Given the description of an element on the screen output the (x, y) to click on. 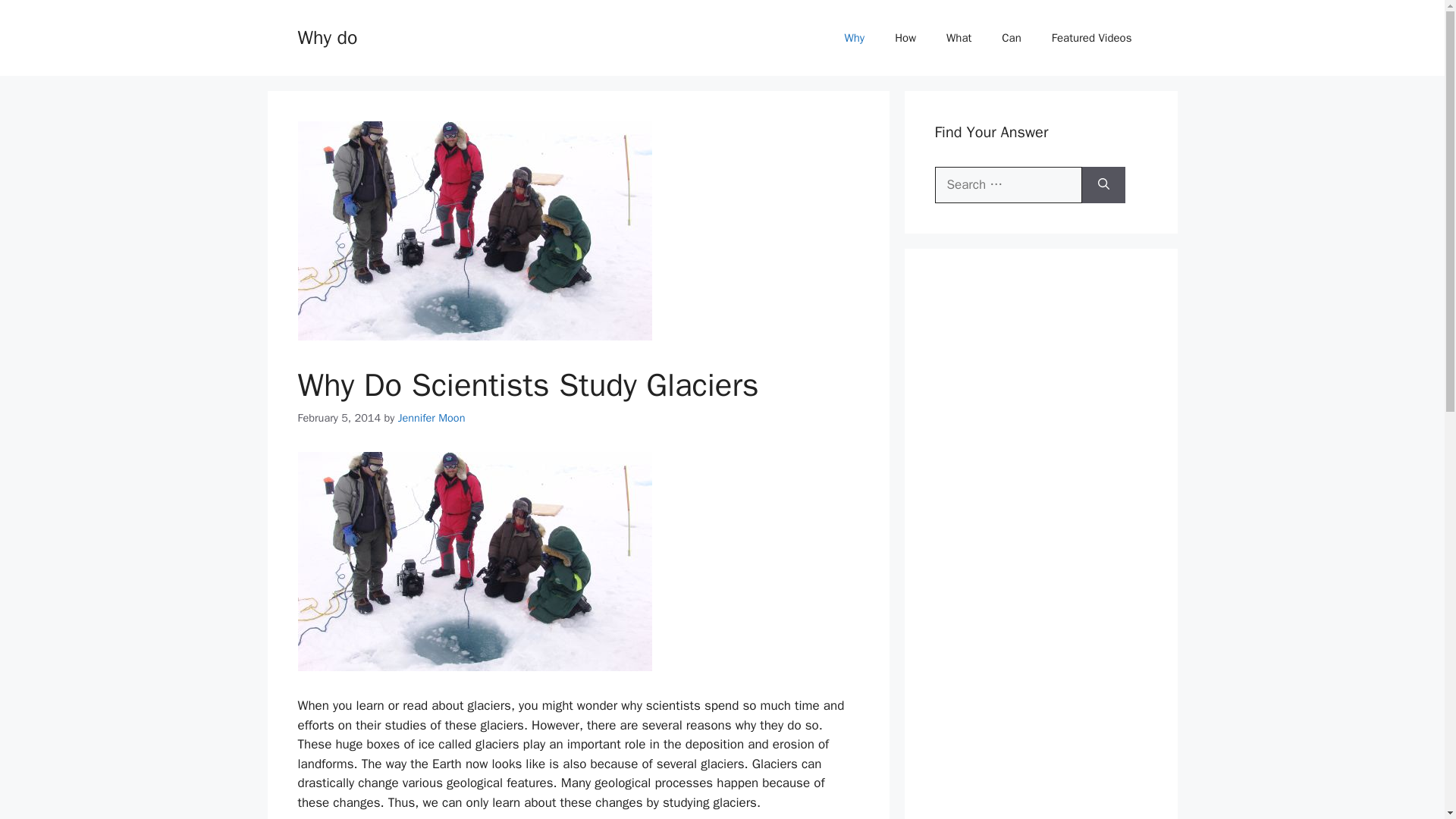
Jennifer Moon (431, 418)
How (905, 37)
Can (1011, 37)
Search for: (1007, 185)
Advertisement (1047, 808)
Featured Videos (1091, 37)
What (959, 37)
View all posts by Jennifer Moon (431, 418)
Why do (326, 37)
Why (853, 37)
